Given the description of an element on the screen output the (x, y) to click on. 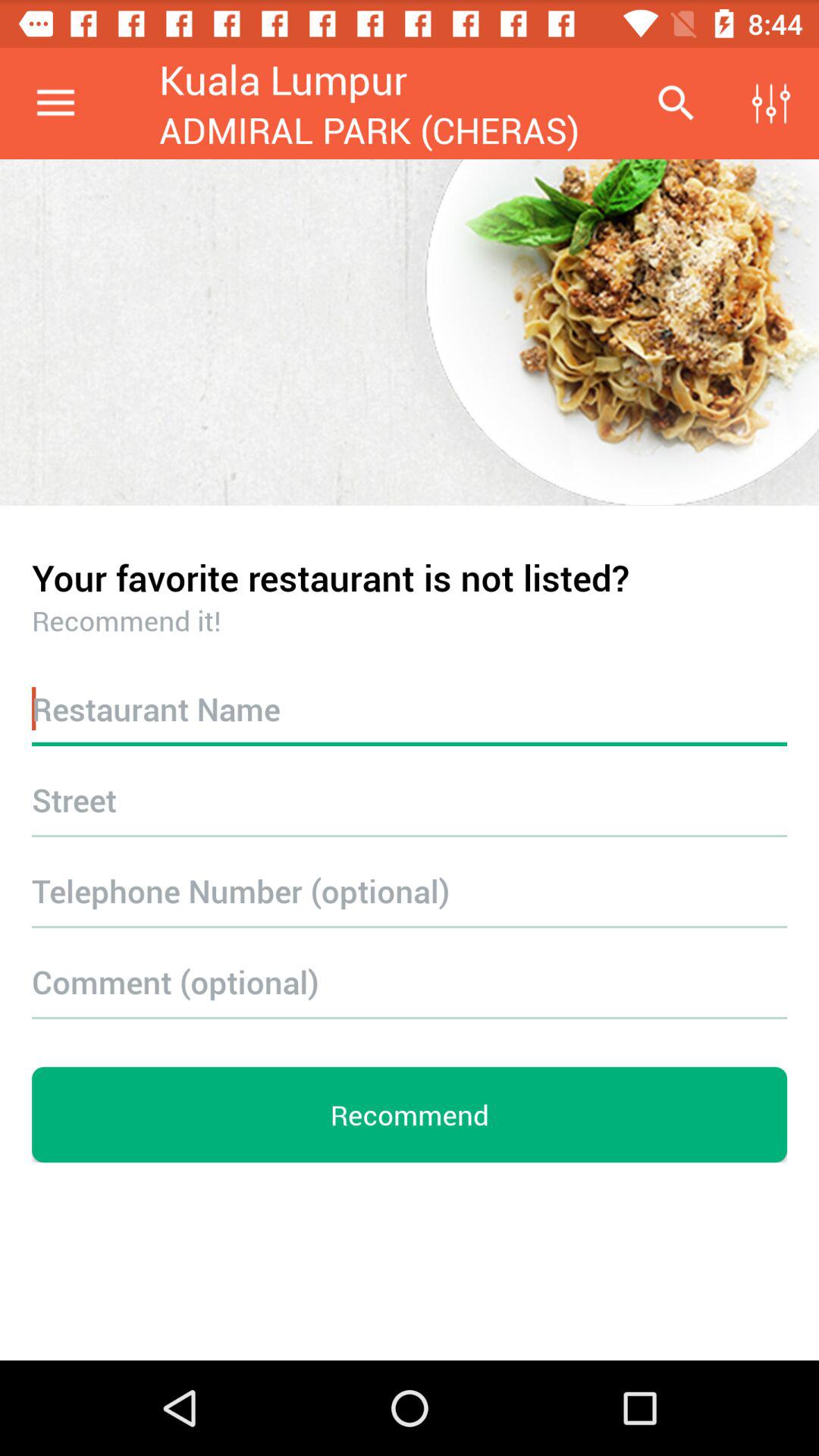
turn on icon next to the kuala lumpur item (55, 103)
